Given the description of an element on the screen output the (x, y) to click on. 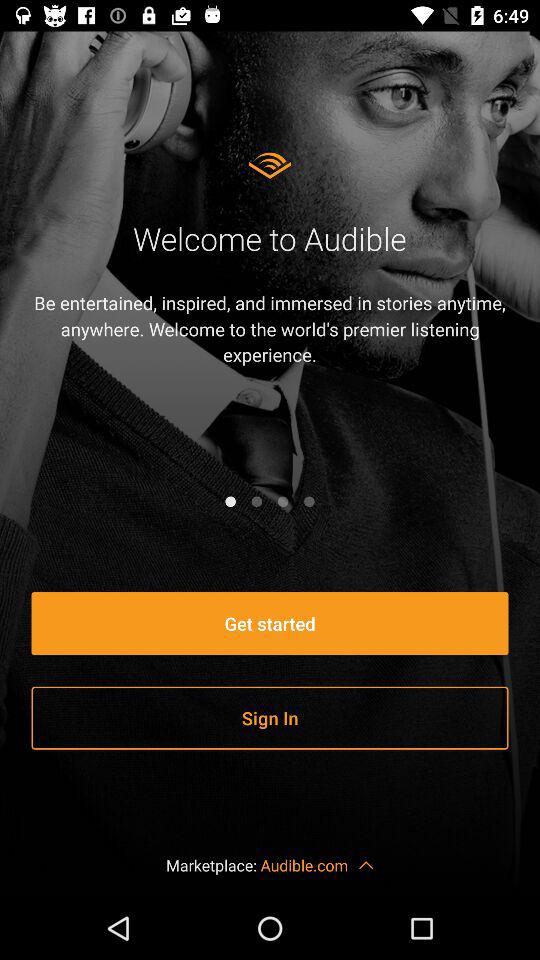
last loading dot (309, 501)
